Given the description of an element on the screen output the (x, y) to click on. 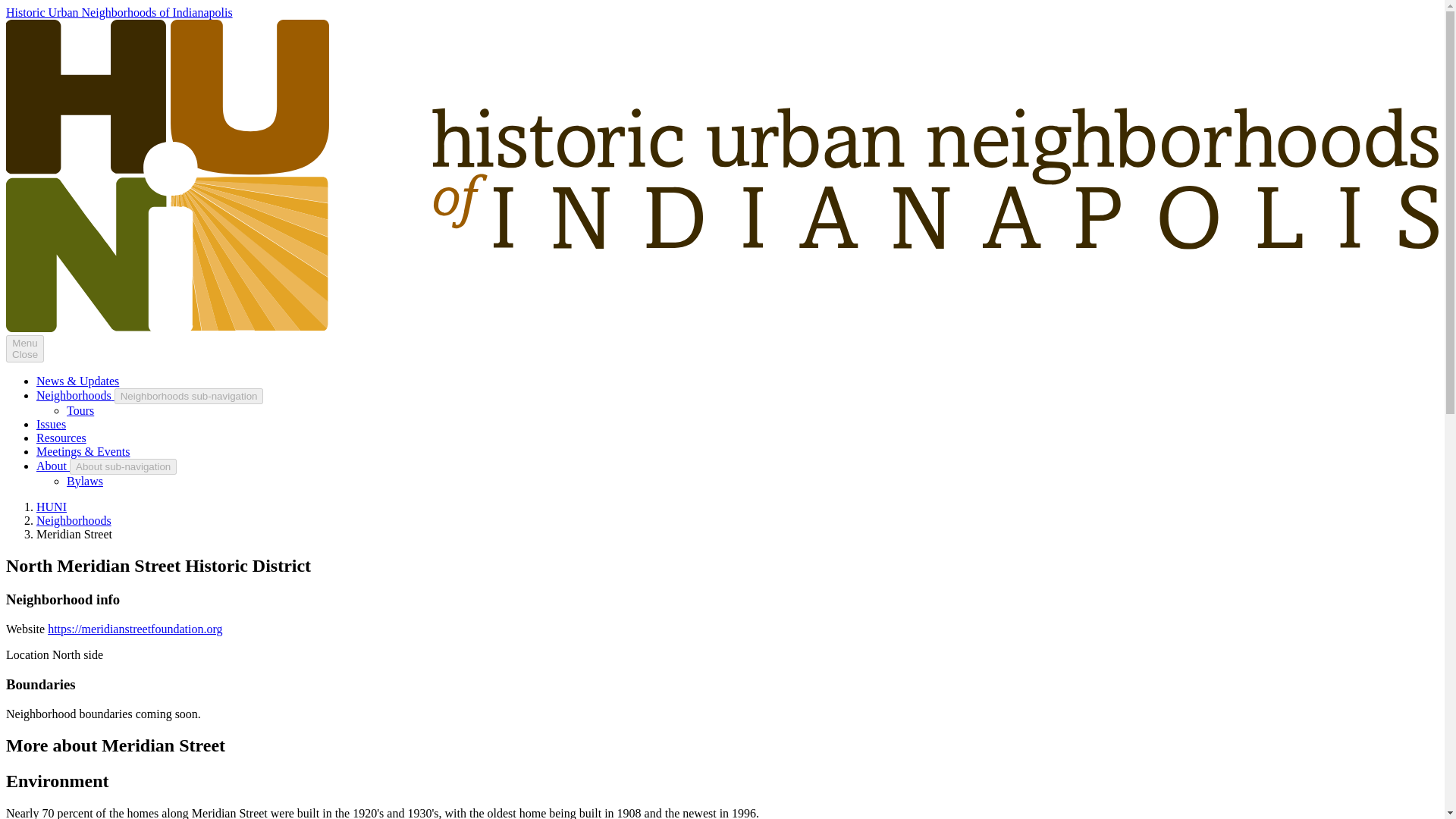
HUNI (51, 506)
Bylaws (84, 481)
Neighborhoods (75, 395)
About (52, 465)
Walking tours of Indianapolis neighborhoods (80, 410)
Neighborhoods (74, 520)
Tours (80, 410)
Issues (50, 423)
Resources (24, 348)
Neighborhoods sub-navigation (60, 437)
About sub-navigation (189, 396)
